Given the description of an element on the screen output the (x, y) to click on. 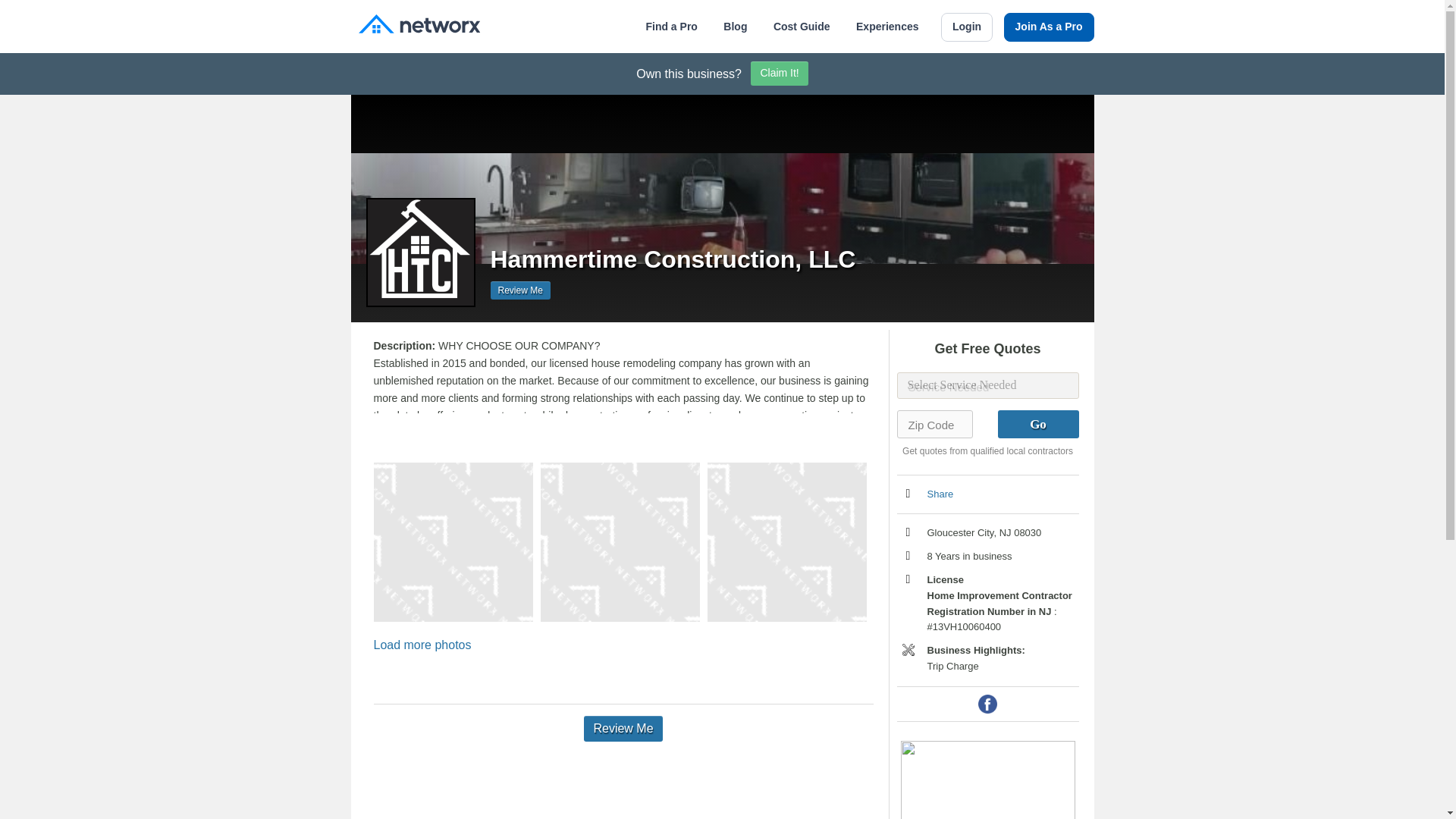
Networx (418, 25)
Find a Pro (670, 26)
Go (1037, 424)
Experiences (887, 26)
Review Me (519, 290)
Login (966, 27)
Cost Guide (801, 26)
Join As a Pro (1049, 27)
Claim It! (779, 73)
